Given the description of an element on the screen output the (x, y) to click on. 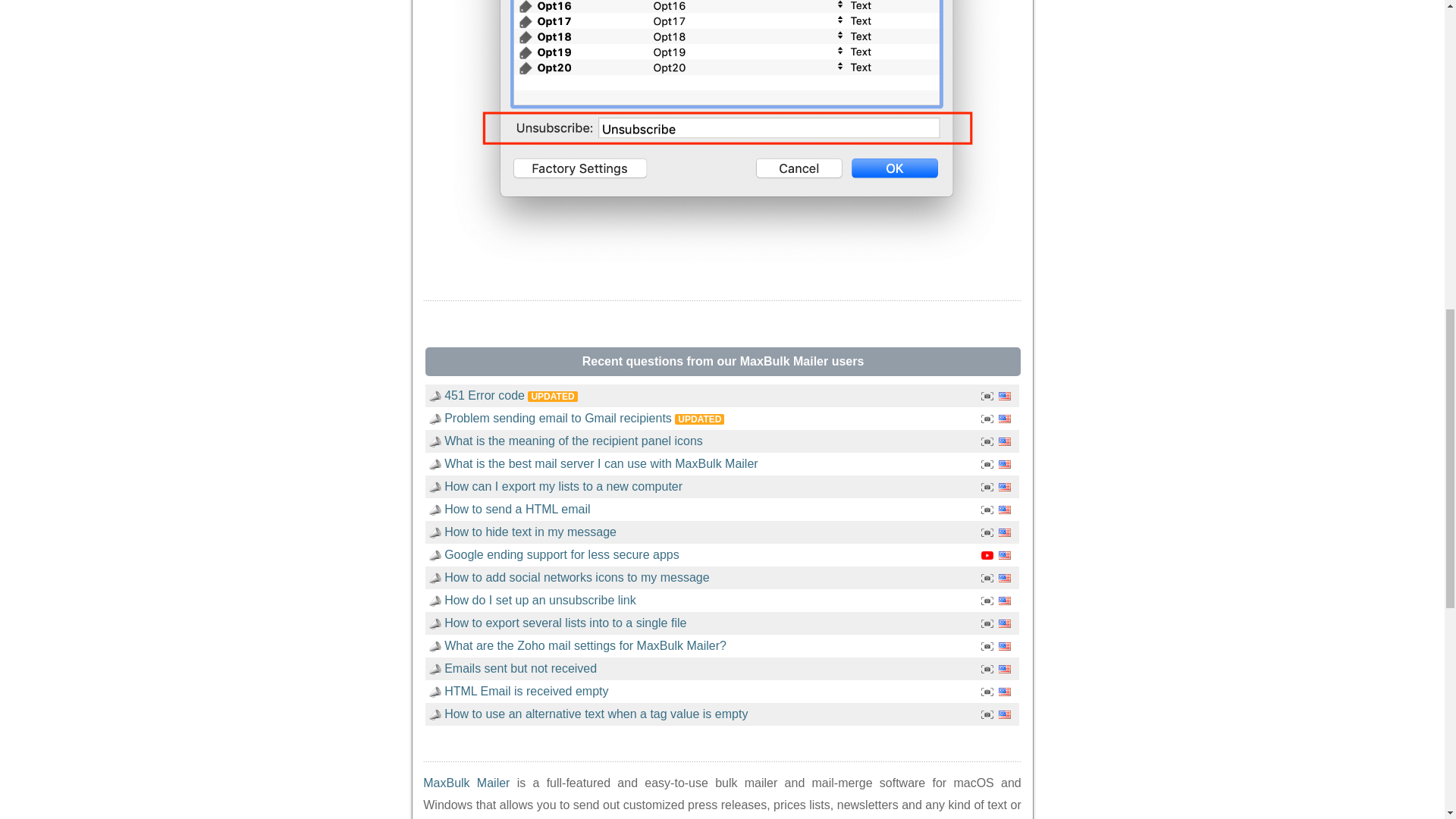
451 Error code (484, 395)
HTML Email is received empty (526, 690)
MaxBulk Mailer (466, 782)
What are the Zoho mail settings for MaxBulk Mailer? (585, 645)
How to use an alternative text when a tag value is empty (596, 713)
How to hide text in my message (529, 531)
What is the best mail server I can use with MaxBulk Mailer (600, 463)
How do I set up an unsubscribe link (540, 599)
How to send a HTML email (516, 508)
Emails sent but not received (520, 667)
